Given the description of an element on the screen output the (x, y) to click on. 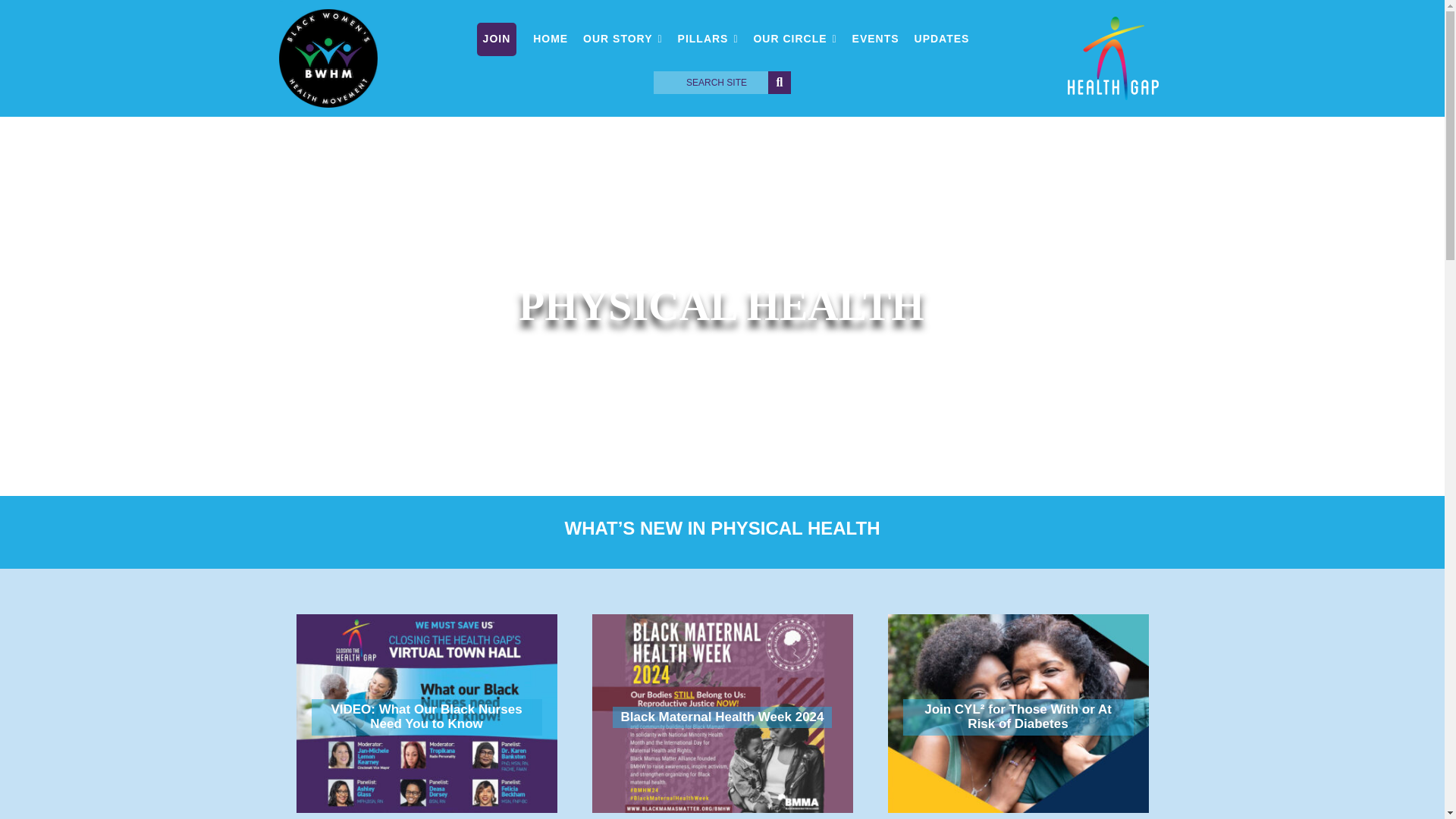
PILLARS (707, 39)
JOIN (496, 39)
VIDEO: What Our Black Nurses Need You to Know (425, 712)
EVENTS (875, 39)
OUR STORY (622, 39)
UPDATES (941, 39)
Black Maternal Health Week 2024 (721, 712)
HOME (550, 39)
OUR CIRCLE (794, 39)
